Given the description of an element on the screen output the (x, y) to click on. 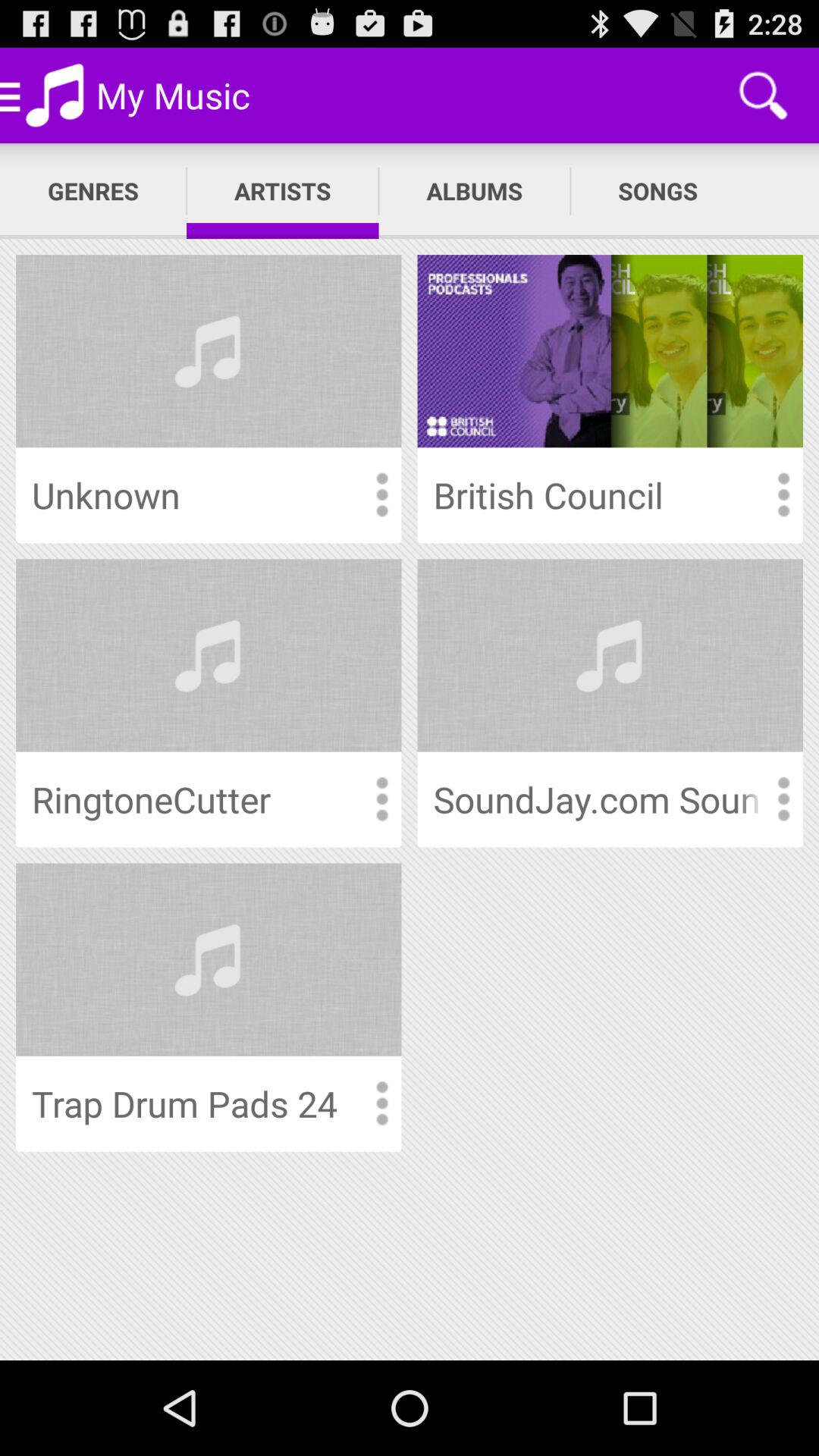
more options (381, 799)
